Given the description of an element on the screen output the (x, y) to click on. 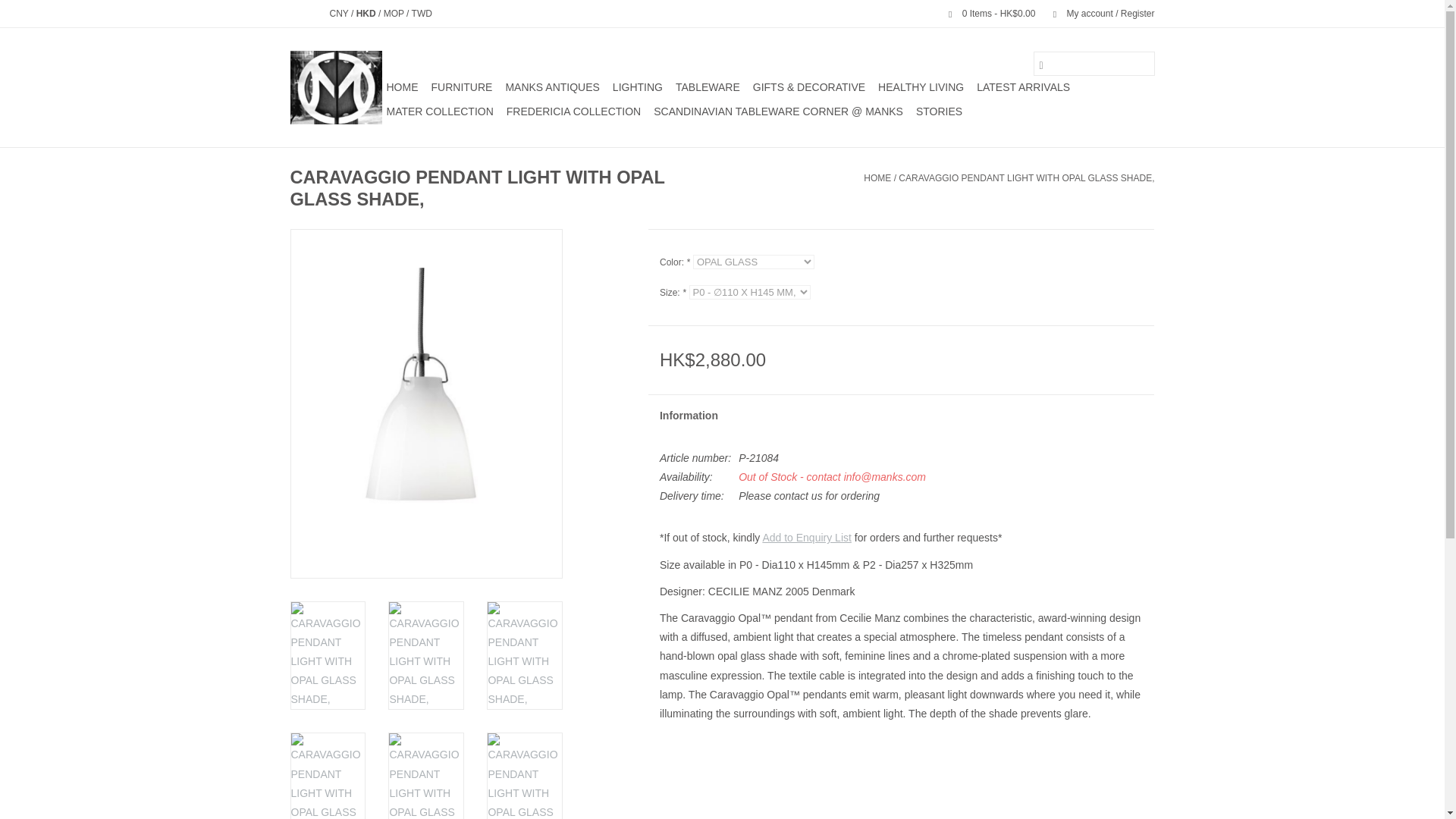
English (295, 13)
FURNITURE (461, 87)
en (295, 13)
LIGHTING (637, 87)
hkd (367, 13)
us (314, 13)
FURNITURE (461, 87)
TWD (422, 13)
MANKS ANTIQUES (552, 87)
HKD (367, 13)
